Given the description of an element on the screen output the (x, y) to click on. 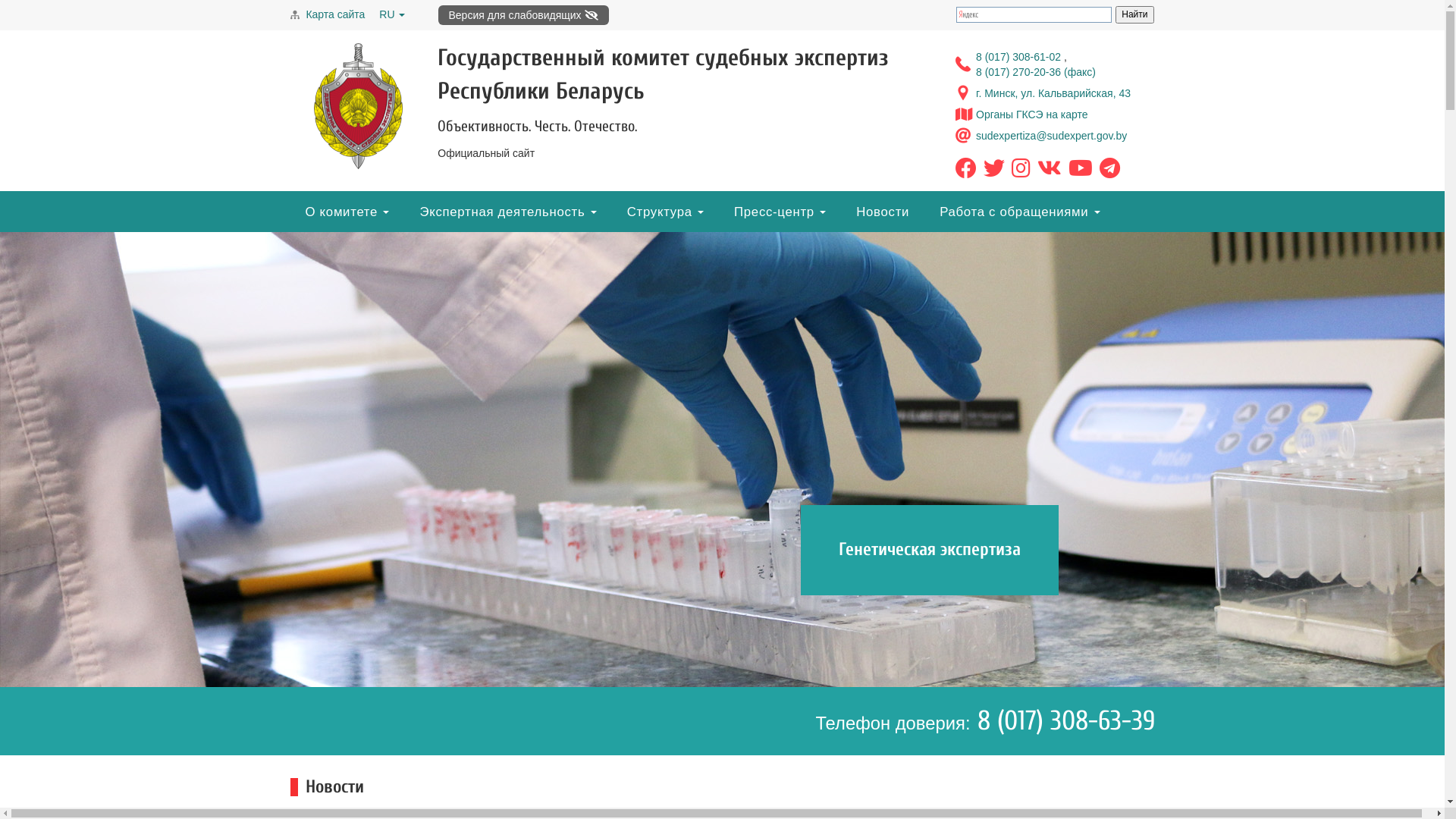
8 (017) 308-61-02 Element type: text (1019, 56)
8 (017) 308-63-39 Element type: text (1062, 720)
RU Element type: text (391, 14)
sudexpertiza@sudexpert.gov.by Element type: text (1050, 135)
